Given the description of an element on the screen output the (x, y) to click on. 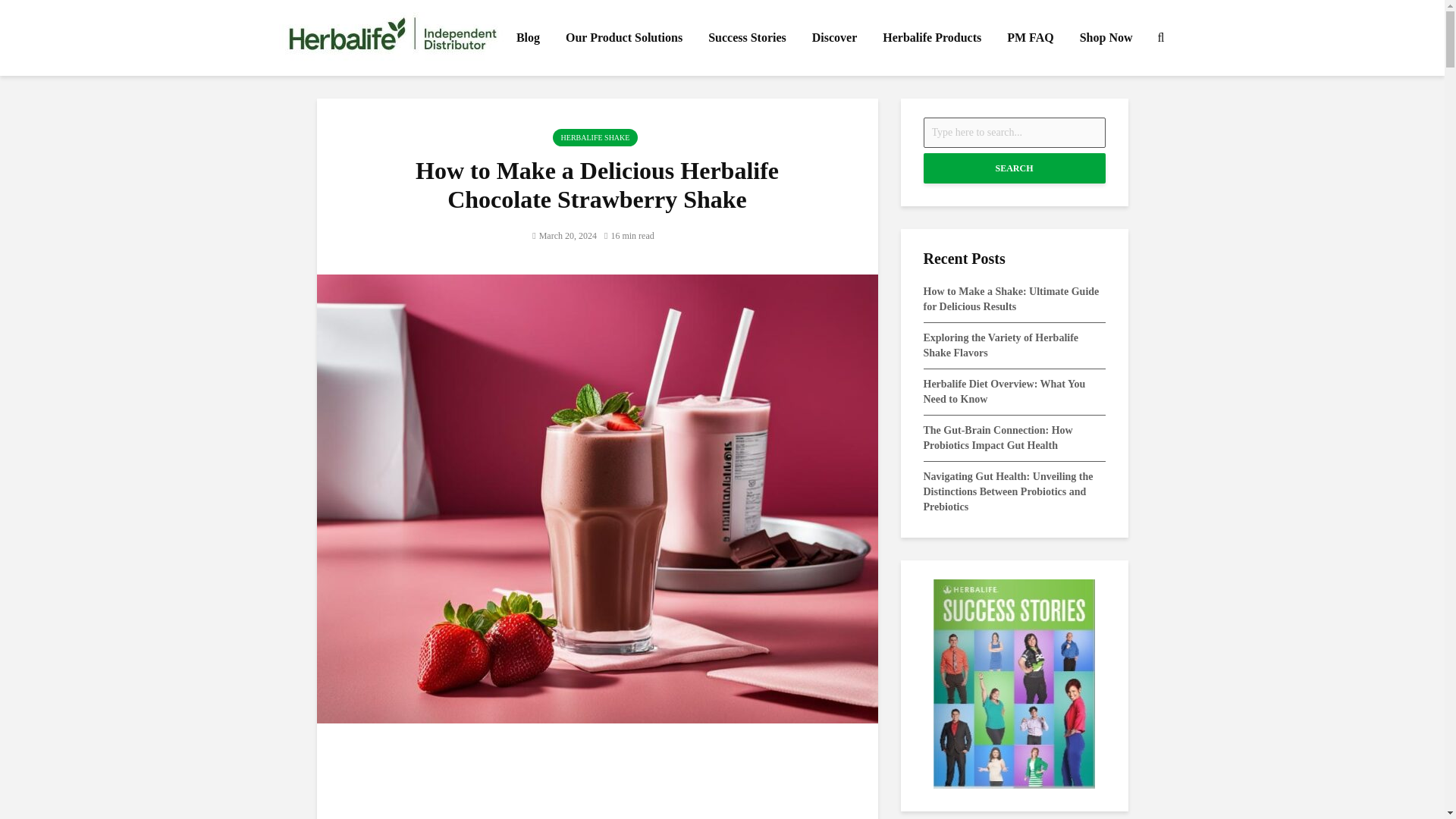
Our Product Solutions (624, 37)
Success Stories (747, 37)
Herbalife Products (931, 37)
PM FAQ (1029, 37)
Discover (834, 37)
Blog (528, 37)
HERBALIFE SHAKE (596, 137)
Become a Preferred Member (597, 786)
Shop Now (1106, 37)
